Given the description of an element on the screen output the (x, y) to click on. 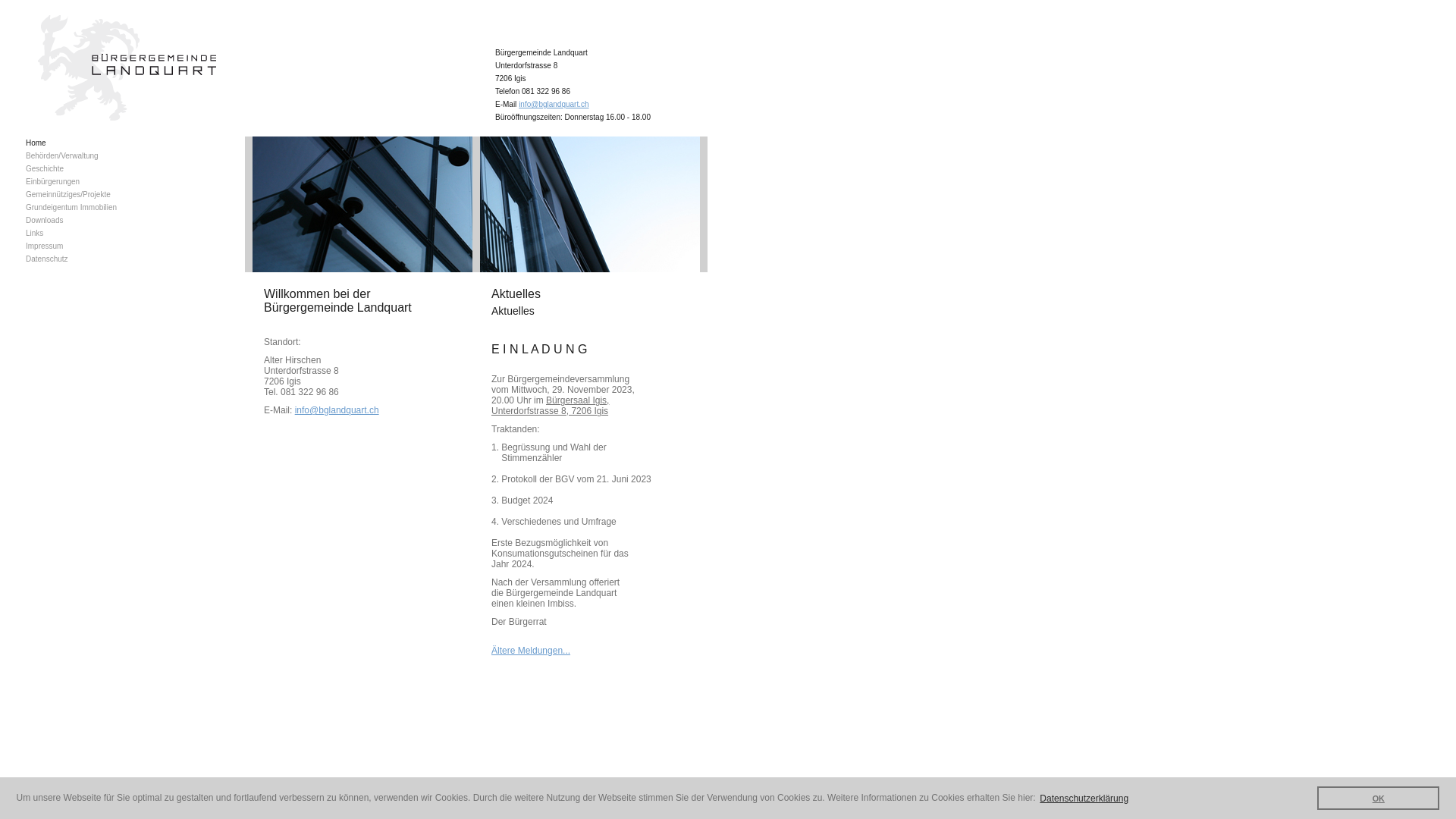
info@bglandquart.ch Element type: text (336, 409)
Home Element type: text (78, 142)
Downloads Element type: text (78, 219)
Geschichte Element type: text (78, 168)
OK Element type: text (1378, 797)
Impressum Element type: text (78, 245)
info@bglandquart.ch Element type: text (553, 104)
Grundeigentum Immobilien Element type: text (78, 206)
Datenschutz Element type: text (78, 258)
Links Element type: text (78, 232)
